Given the description of an element on the screen output the (x, y) to click on. 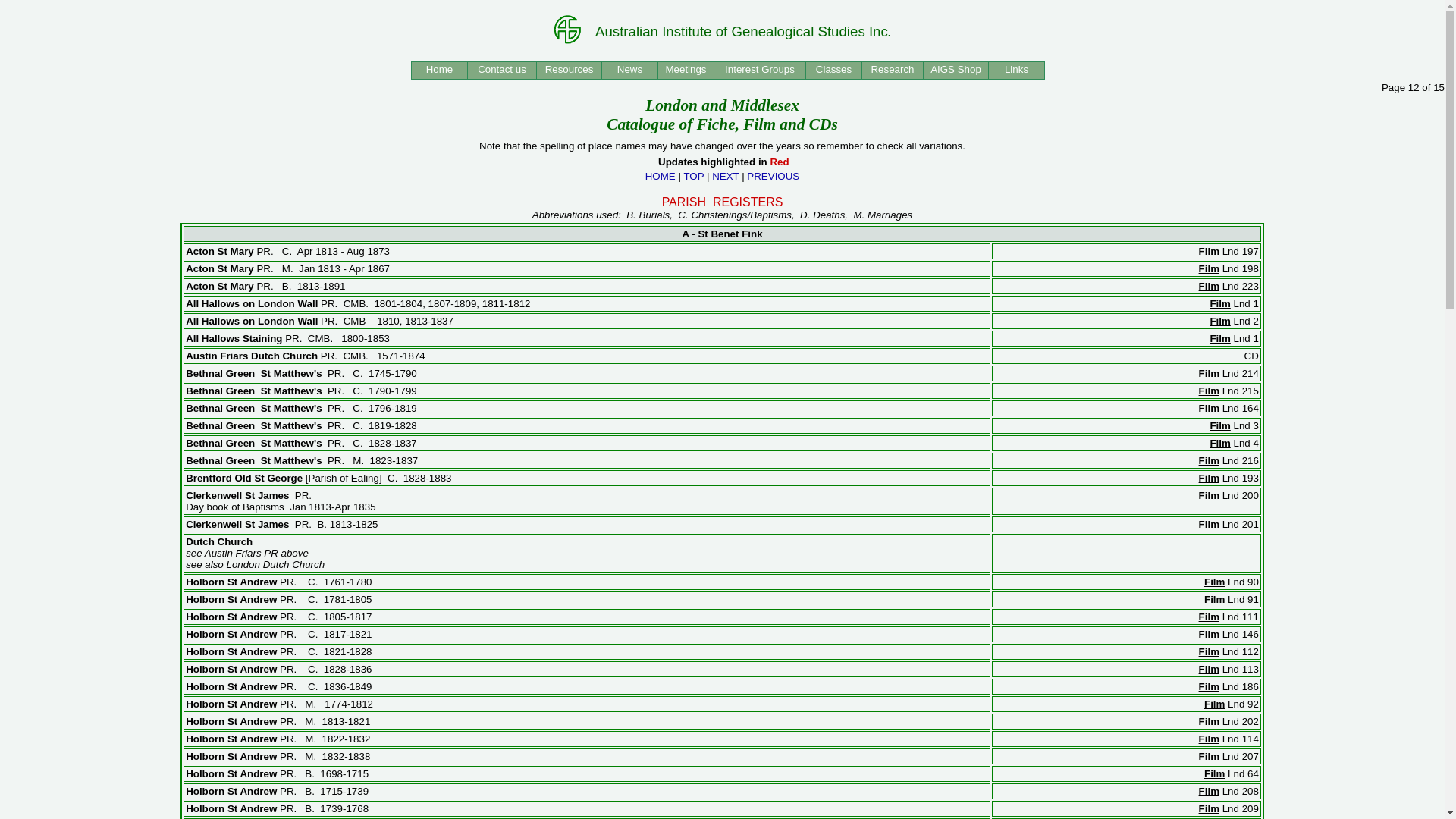
HOME Element type: text (660, 176)
NEXT Element type: text (725, 176)
TOP Element type: text (693, 176)
PREVIOUS Element type: text (772, 176)
